Given the description of an element on the screen output the (x, y) to click on. 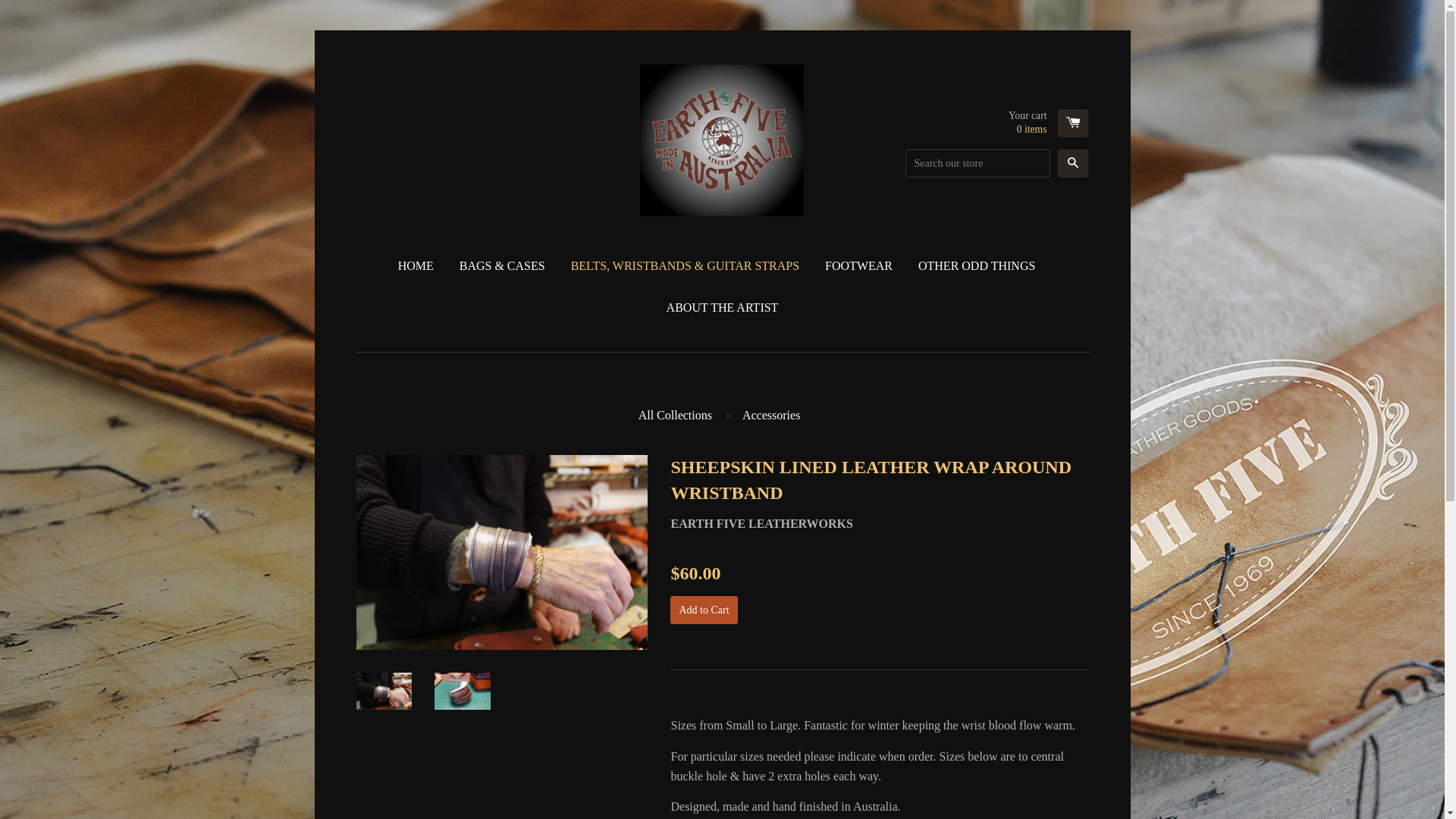
OTHER ODD THINGS Element type: text (976, 265)
Add to Cart Element type: text (703, 610)
Accessories Element type: text (772, 415)
Your cart
0 items Element type: text (1048, 123)
HOME Element type: text (421, 265)
Search Element type: text (1072, 163)
BELTS, WRISTBANDS & GUITAR STRAPS Element type: text (684, 265)
FOOTWEAR Element type: text (858, 265)
All Collections Element type: text (676, 415)
ABOUT THE ARTIST Element type: text (722, 307)
BAGS & CASES Element type: text (502, 265)
